Given the description of an element on the screen output the (x, y) to click on. 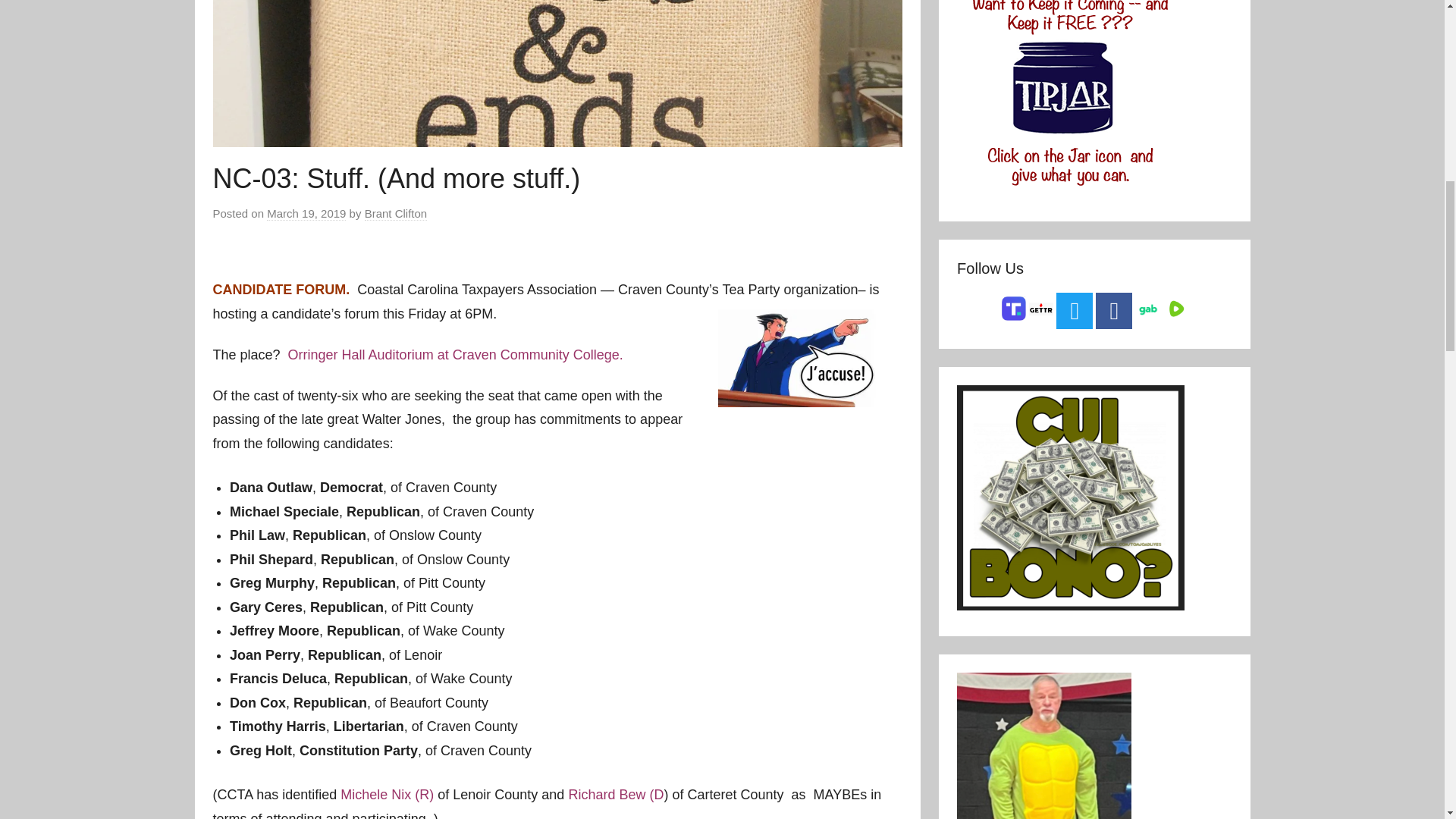
gettr (1040, 312)
gab (1147, 313)
Brant Clifton (396, 213)
rumble (1173, 308)
View all posts by Brant Clifton (396, 213)
March 19, 2019 (306, 213)
gab (1146, 309)
fb (1114, 310)
twitter (1075, 310)
truthsocial (1013, 308)
